Given the description of an element on the screen output the (x, y) to click on. 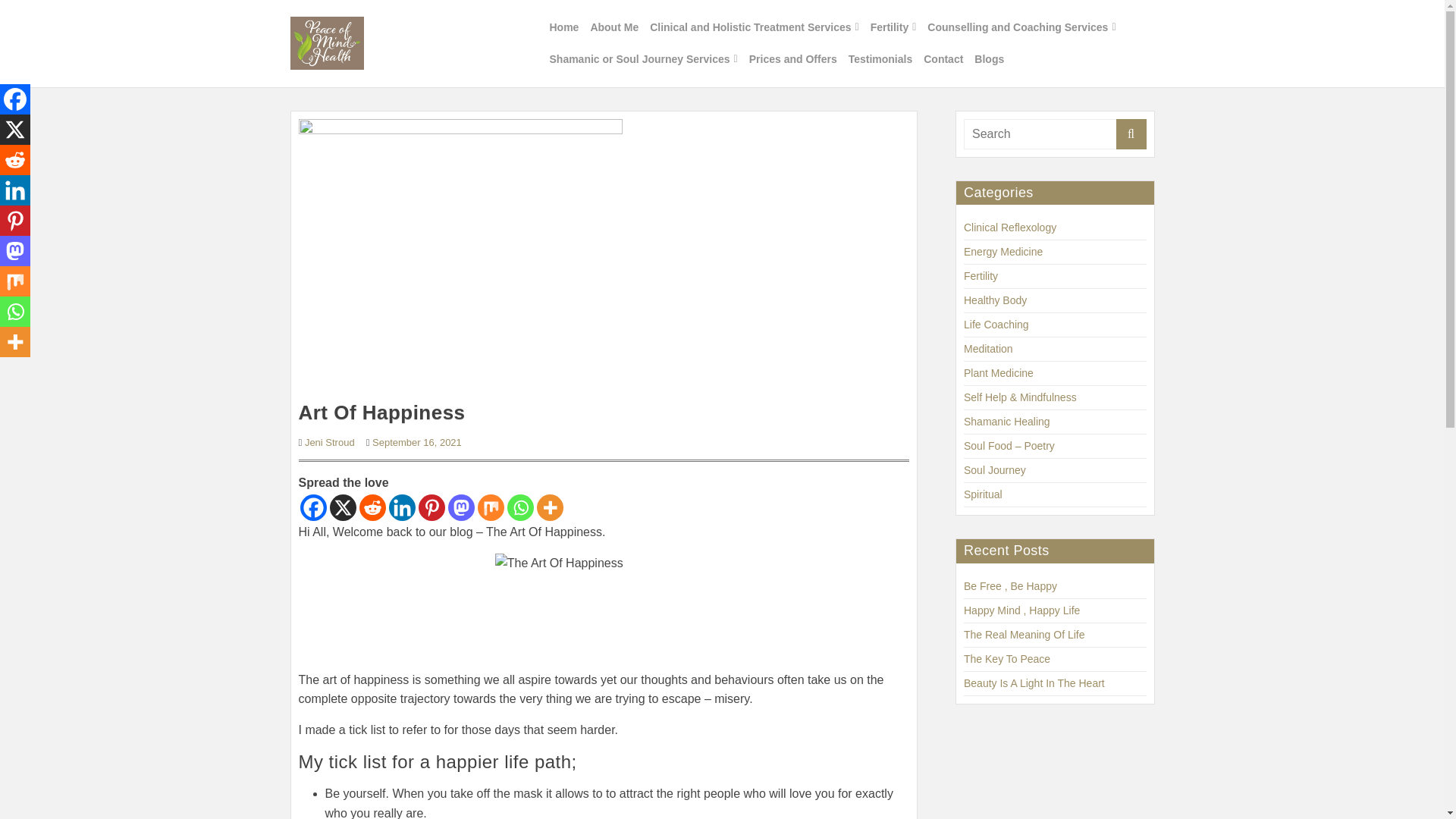
Whatsapp (519, 507)
Facebook (312, 507)
Clinical and Holistic Treatment Services (754, 27)
Facebook (15, 99)
Reddit (372, 507)
Linkedin (401, 507)
Mix (15, 281)
X (342, 507)
Mastodon (460, 507)
About Me (614, 27)
